Given the description of an element on the screen output the (x, y) to click on. 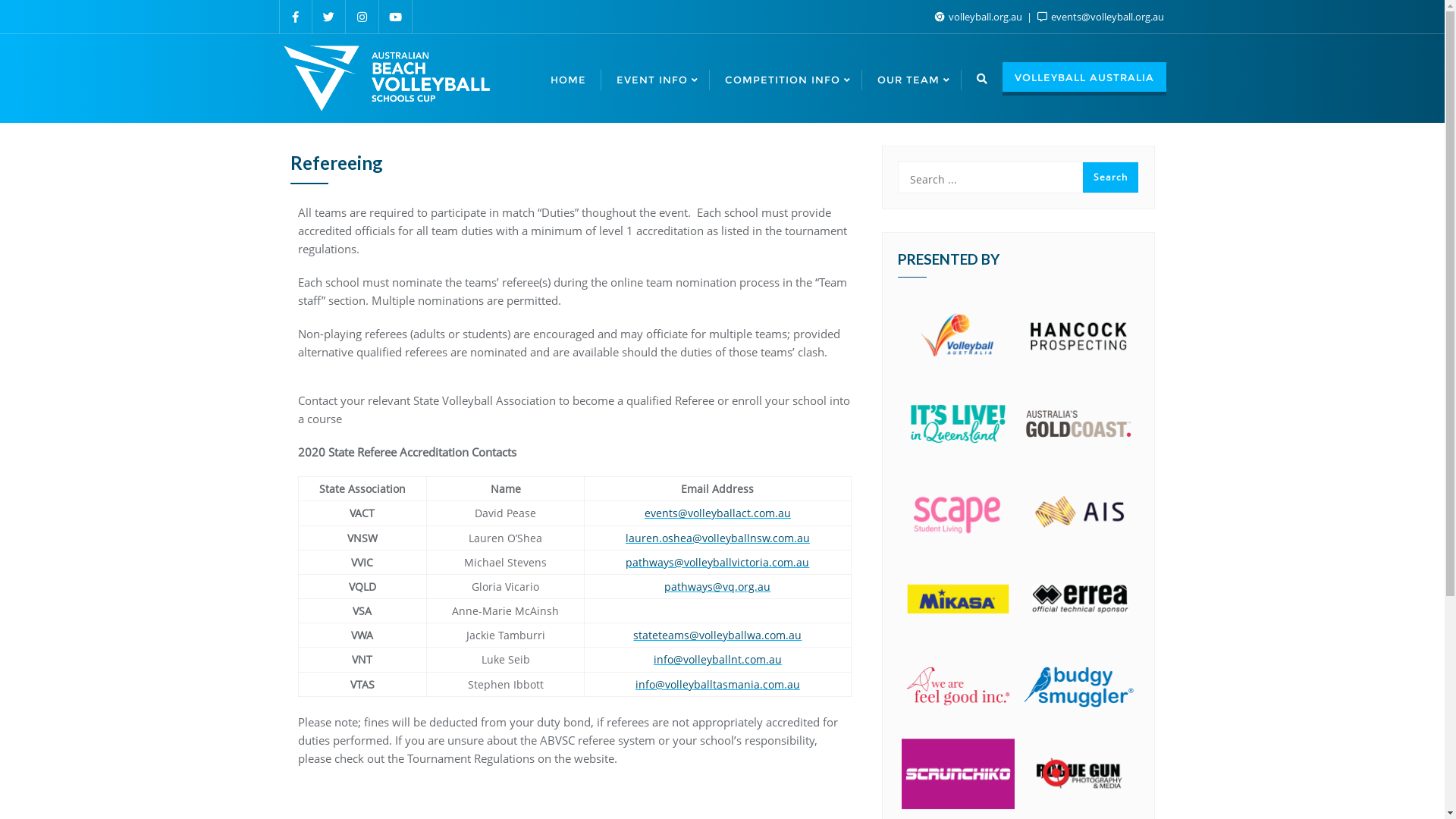
pathways@volleyballvictoria.com.au Element type: text (717, 562)
COMPETITION INFO Element type: text (785, 78)
Search Element type: text (1110, 177)
info@volleyballtasmania.com.au Element type: text (717, 684)
stateteams@volleyballwa.com.au Element type: text (717, 634)
EVENT INFO Element type: text (654, 78)
info@volleyballnt.com.au Element type: text (717, 659)
volleyball.org.au Element type: text (978, 16)
OUR TEAM Element type: text (910, 78)
events@volleyball.org.au Element type: text (1100, 16)
pathways@vq.org.au Element type: text (717, 586)
VOLLEYBALL AUSTRALIA Element type: text (1084, 78)
HOME Element type: text (568, 78)
events@volleyballact.com.au Element type: text (717, 512)
lauren.oshea@volleyballnsw.com.au Element type: text (717, 537)
